Given the description of an element on the screen output the (x, y) to click on. 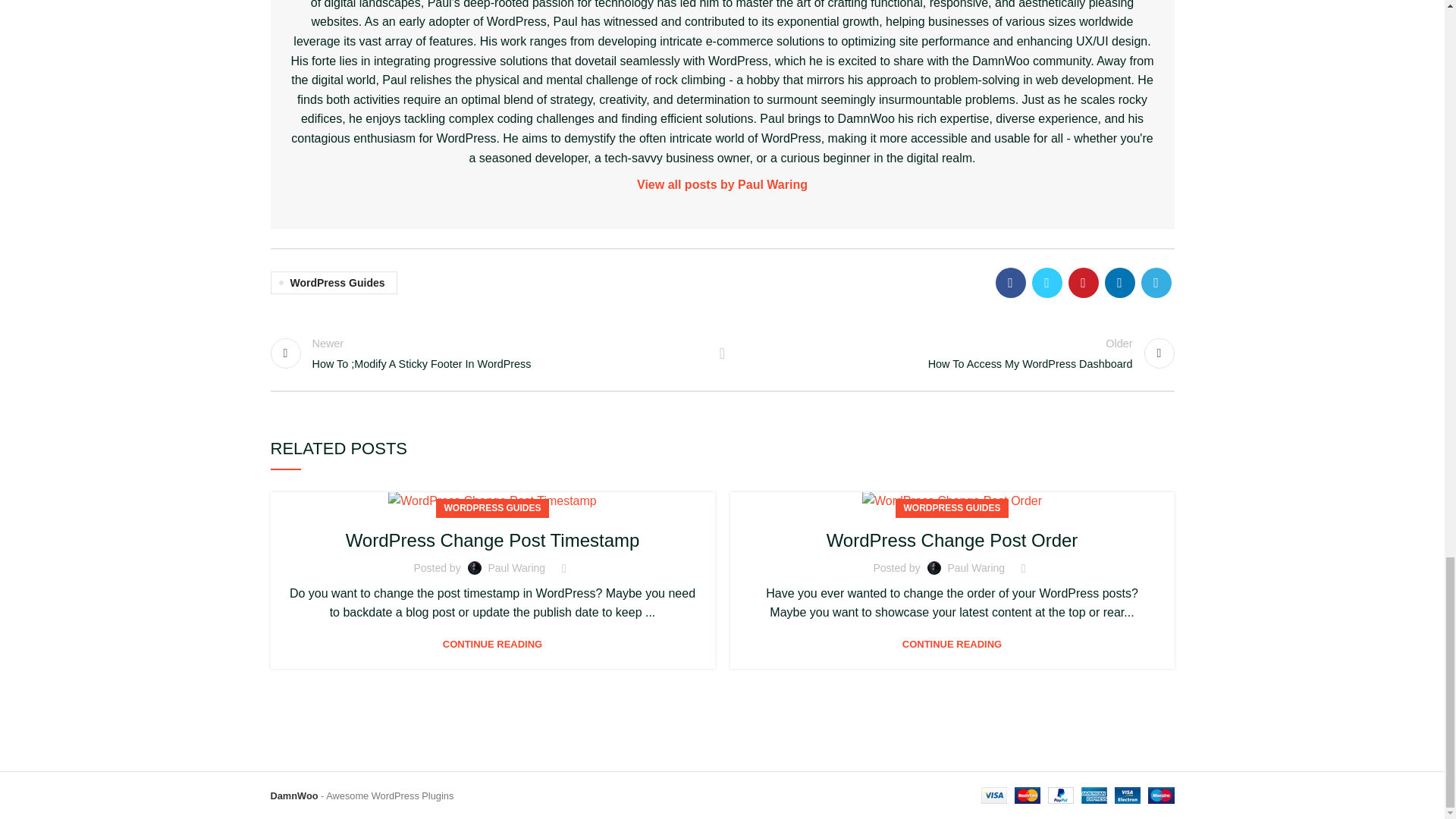
Back to list (488, 353)
WordPress Change Post Timestamp (721, 353)
View all posts by Paul Waring (491, 501)
WordPress Change Post Timestamp (722, 184)
WordPress Change Post Order (493, 539)
WordPress Guides (955, 353)
Paul Waring (951, 501)
WORDPRESS GUIDES (332, 282)
